Given the description of an element on the screen output the (x, y) to click on. 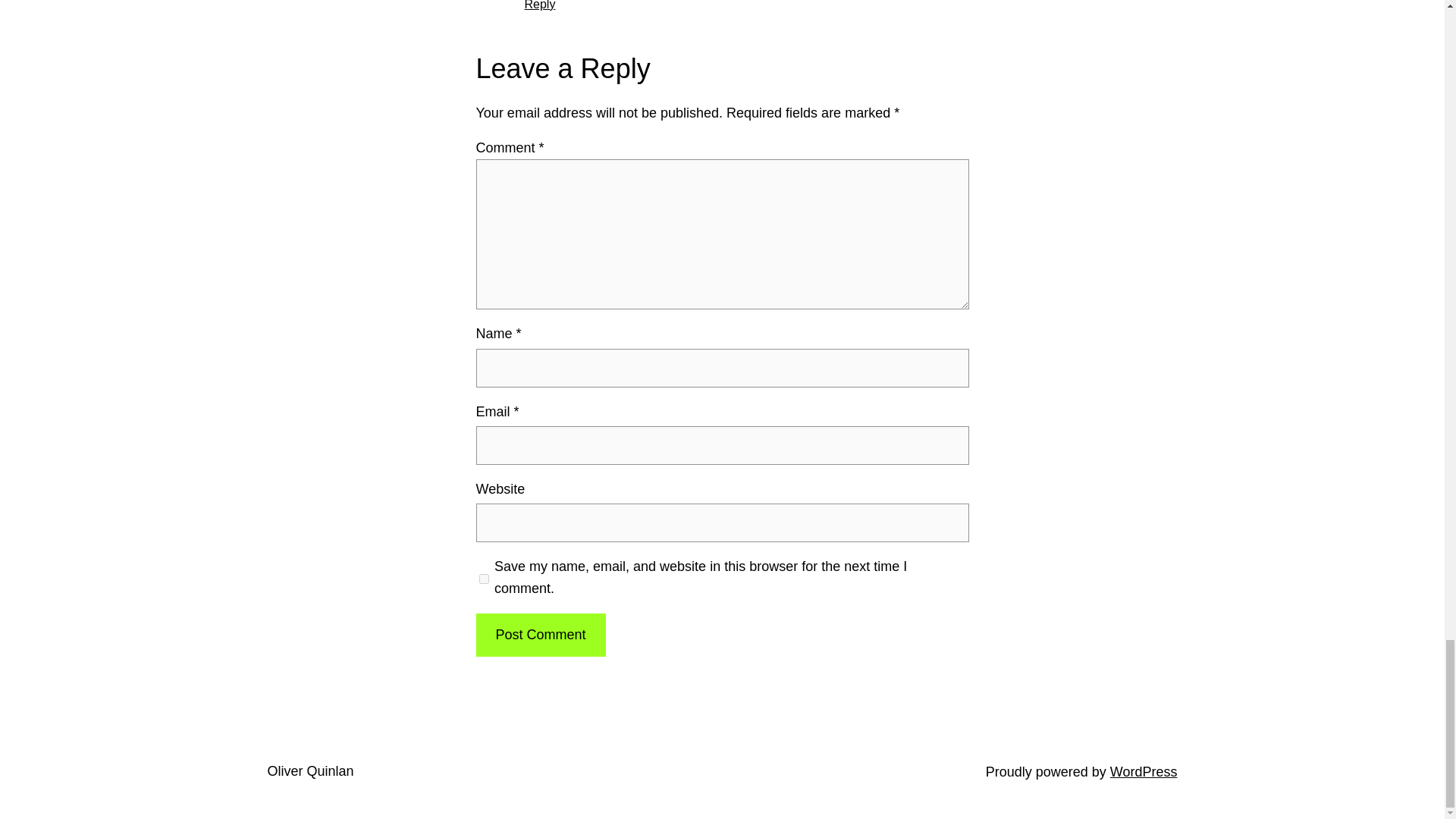
Post Comment (540, 634)
Post Comment (540, 634)
Reply (540, 5)
Oliver Quinlan (309, 770)
